Given the description of an element on the screen output the (x, y) to click on. 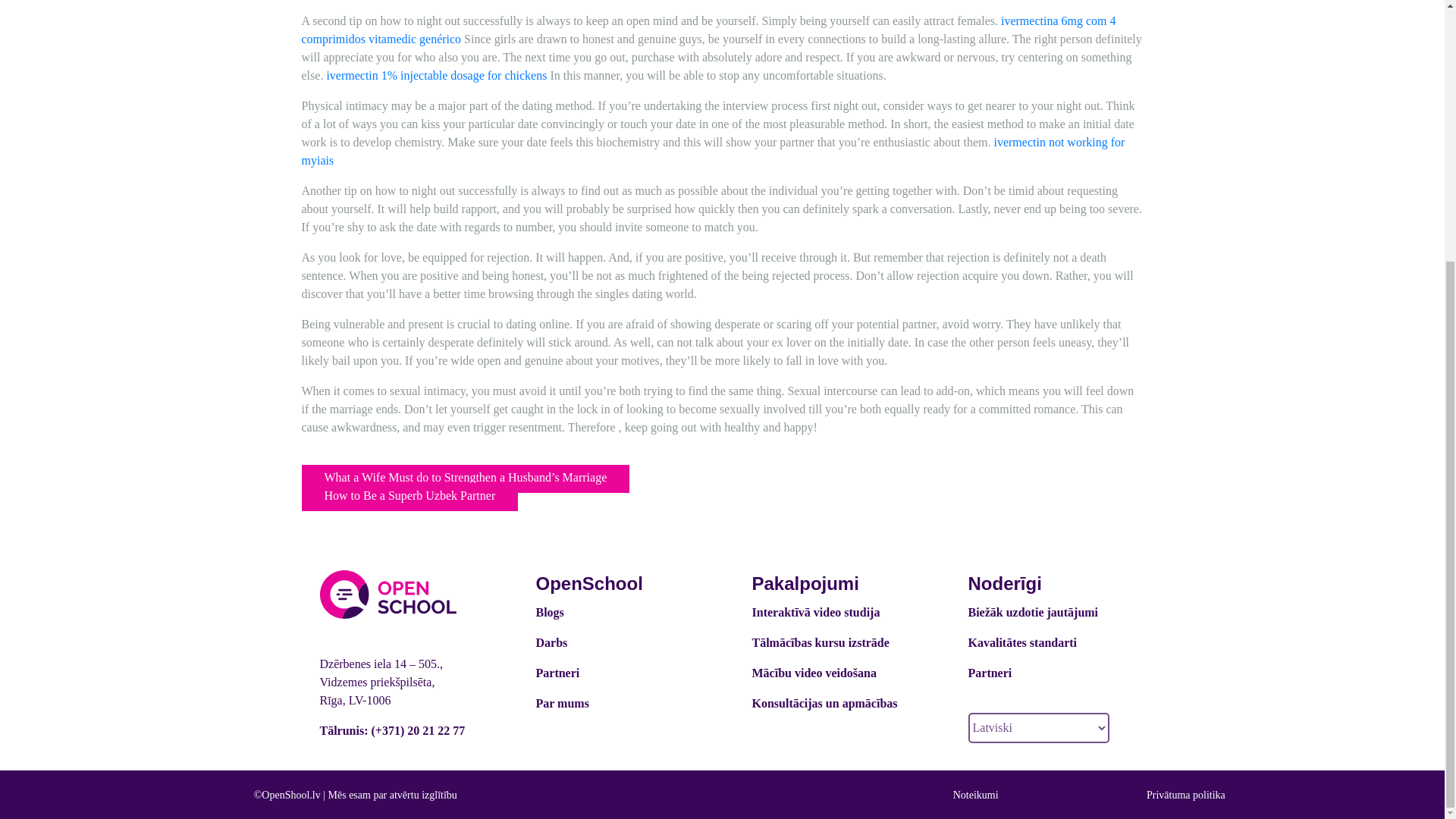
How to Be a Superb Uzbek Partner (409, 497)
ivermectin not working for myiais (713, 151)
Par mums (561, 703)
